Given the description of an element on the screen output the (x, y) to click on. 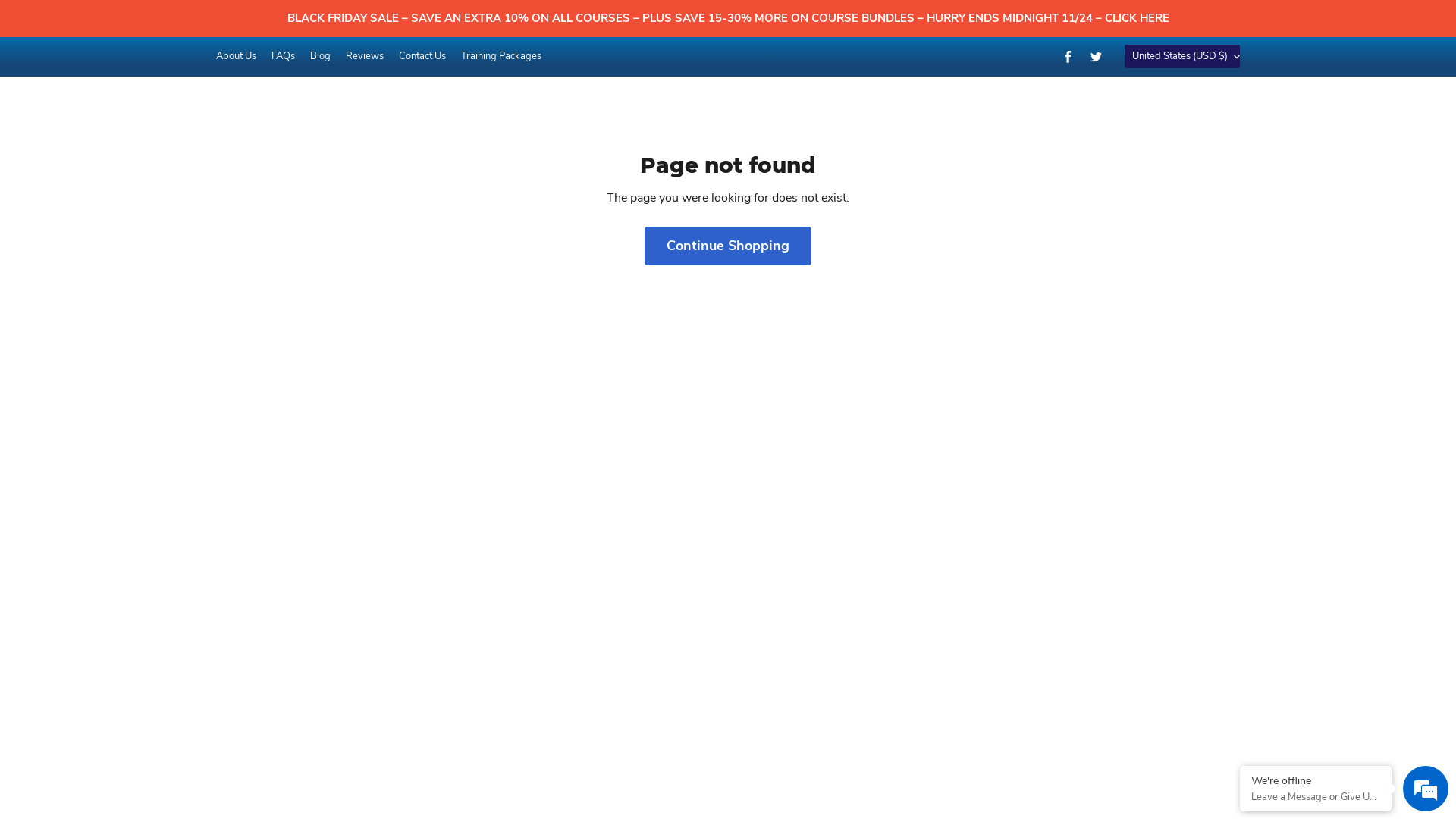
FAQs Element type: text (282, 56)
Training Packages Element type: text (501, 56)
About Us Element type: text (236, 56)
Continue Shopping Element type: text (727, 245)
United States (USD $) Element type: text (1181, 56)
Find us on Twitter Element type: text (1095, 55)
Blog Element type: text (320, 56)
Reviews Element type: text (364, 56)
Find us on Facebook Element type: text (1068, 55)
Contact Us Element type: text (421, 56)
